Given the description of an element on the screen output the (x, y) to click on. 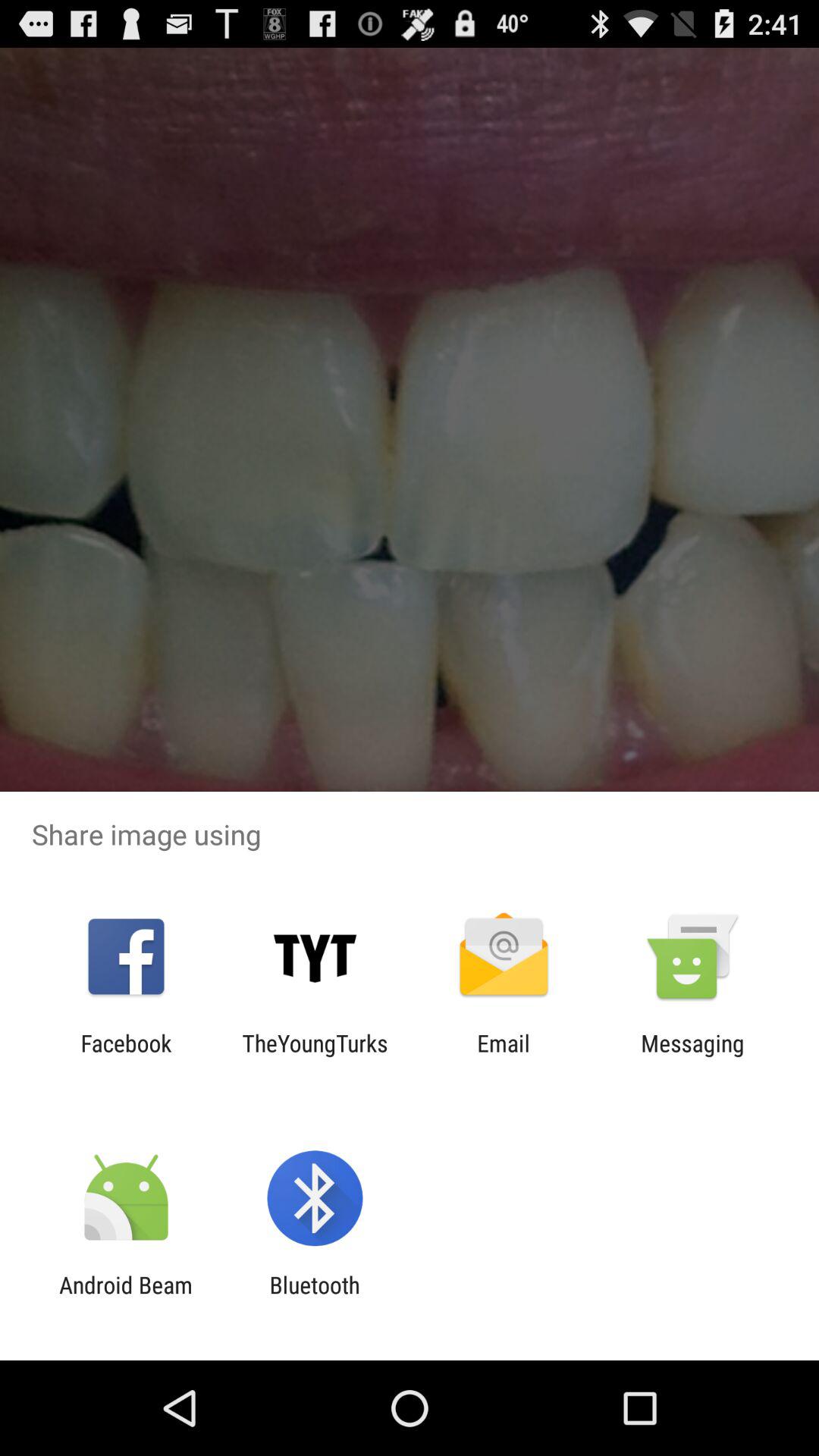
turn off the bluetooth app (314, 1298)
